Given the description of an element on the screen output the (x, y) to click on. 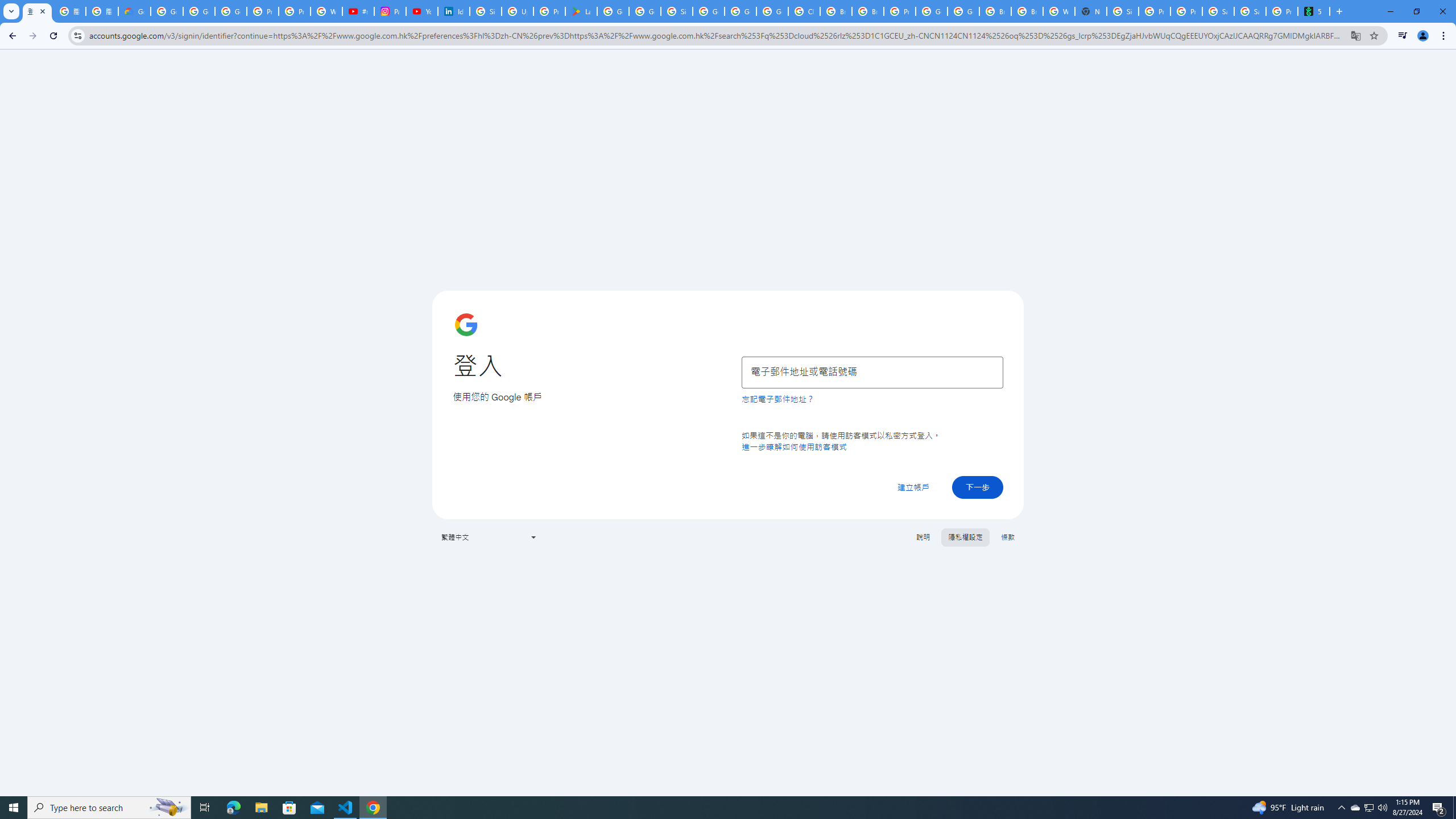
Google Cloud Platform (963, 11)
Control your music, videos, and more (1402, 35)
Google Workspace - Specific Terms (644, 11)
